Given the description of an element on the screen output the (x, y) to click on. 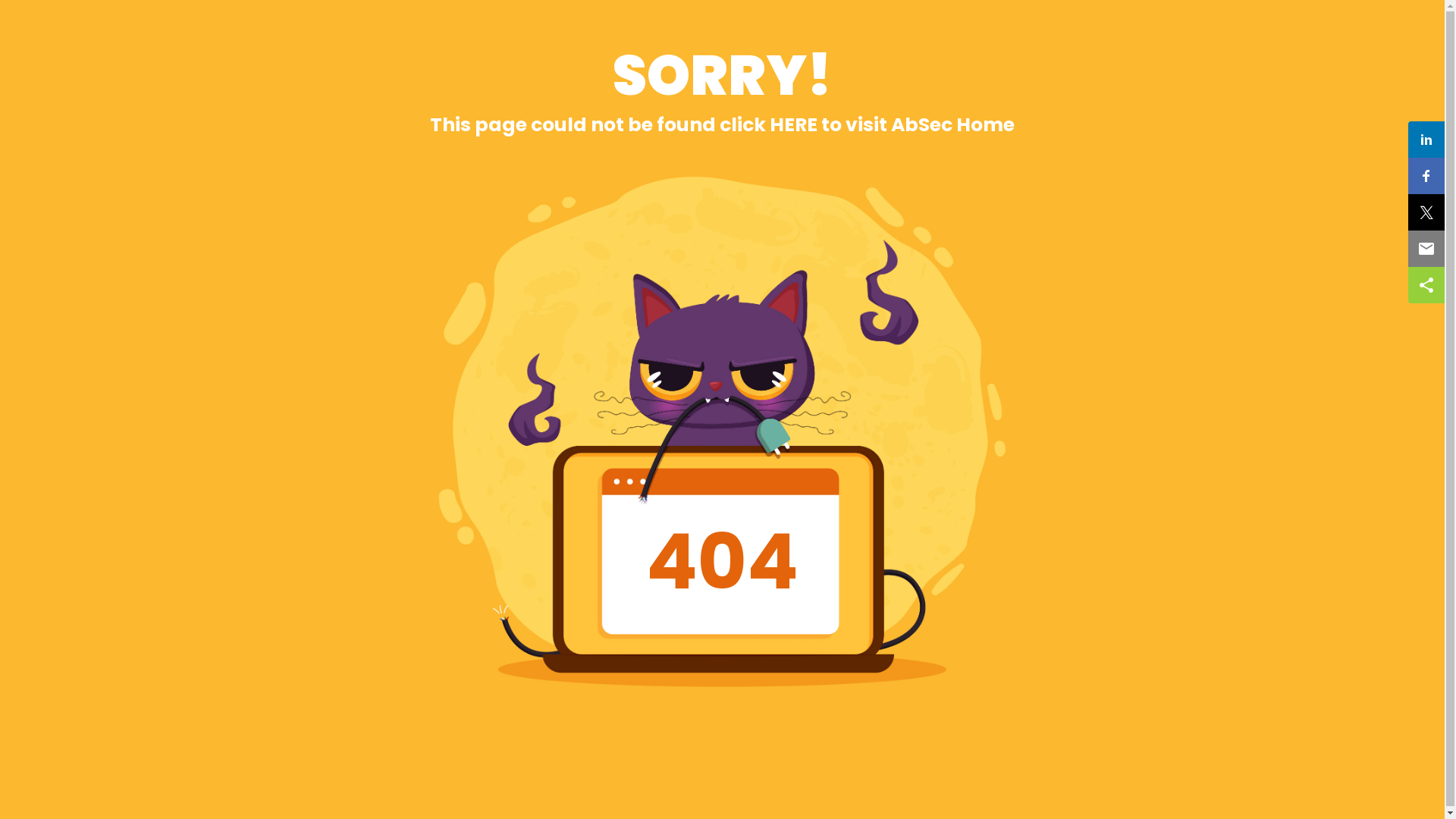
This page could not be found click HERE to visit AbSec Home Element type: text (721, 124)
